Given the description of an element on the screen output the (x, y) to click on. 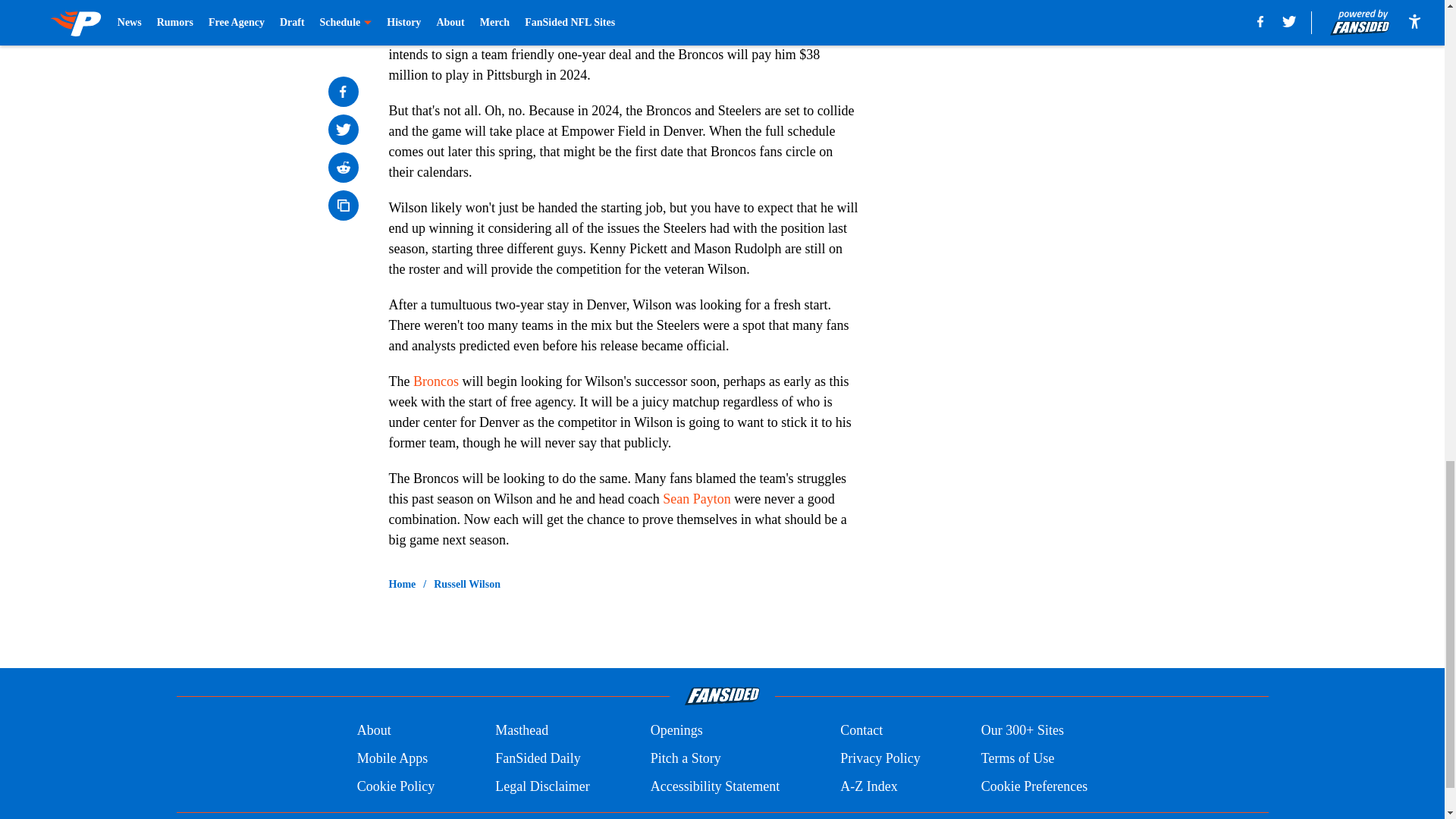
Pitch a Story (685, 758)
Home (401, 584)
Accessibility Statement (714, 786)
Broncos (435, 381)
Terms of Use (1017, 758)
Contact (861, 730)
Masthead (521, 730)
Russell Wilson (736, 13)
Legal Disclaimer (542, 786)
FanSided Daily (537, 758)
Mobile Apps (392, 758)
Sean Payton (696, 498)
agreeing to terms (499, 33)
Russell Wilson (466, 584)
Privacy Policy (880, 758)
